Given the description of an element on the screen output the (x, y) to click on. 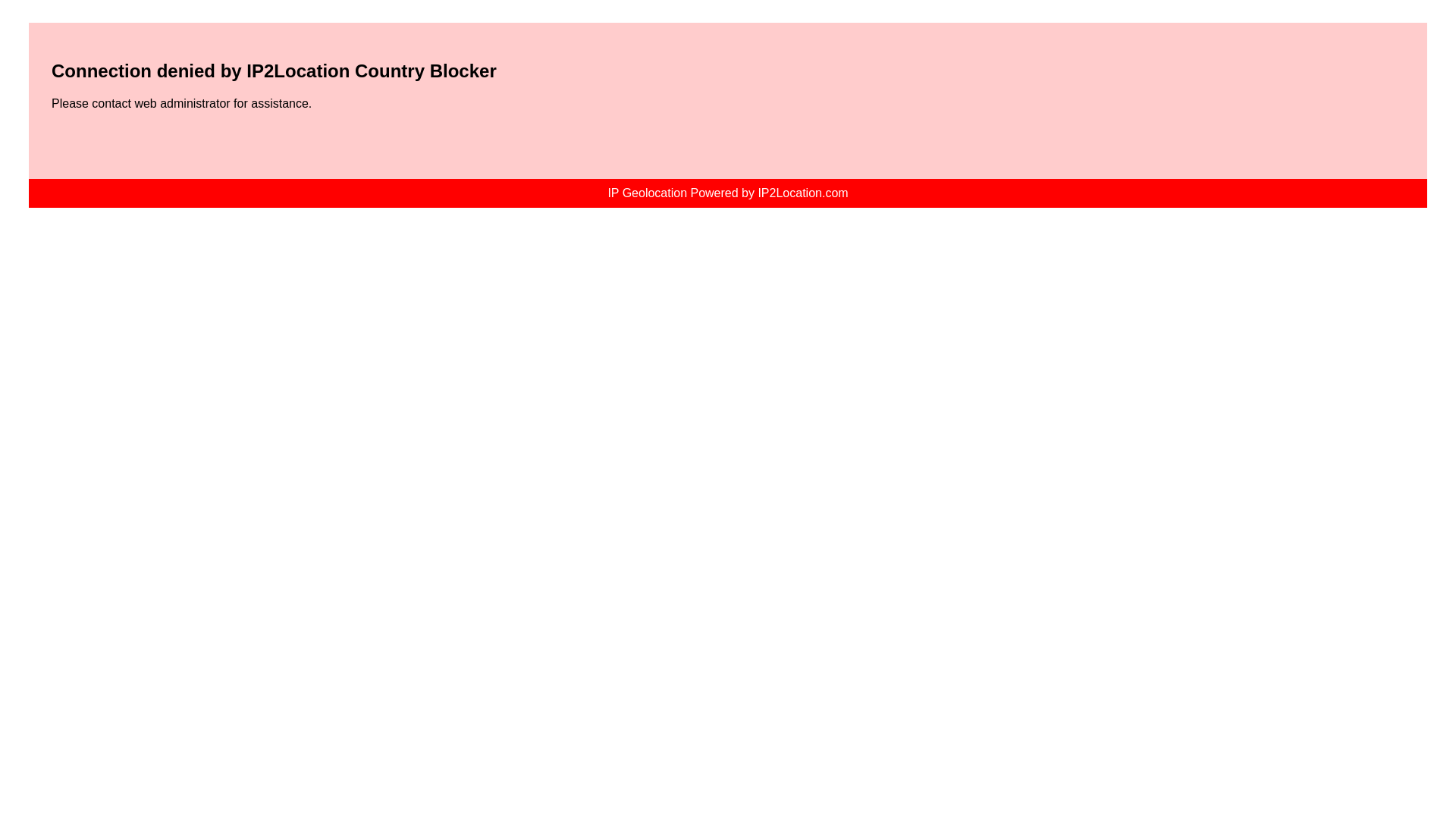
IP Geolocation Powered by IP2Location.com Element type: text (727, 192)
